Given the description of an element on the screen output the (x, y) to click on. 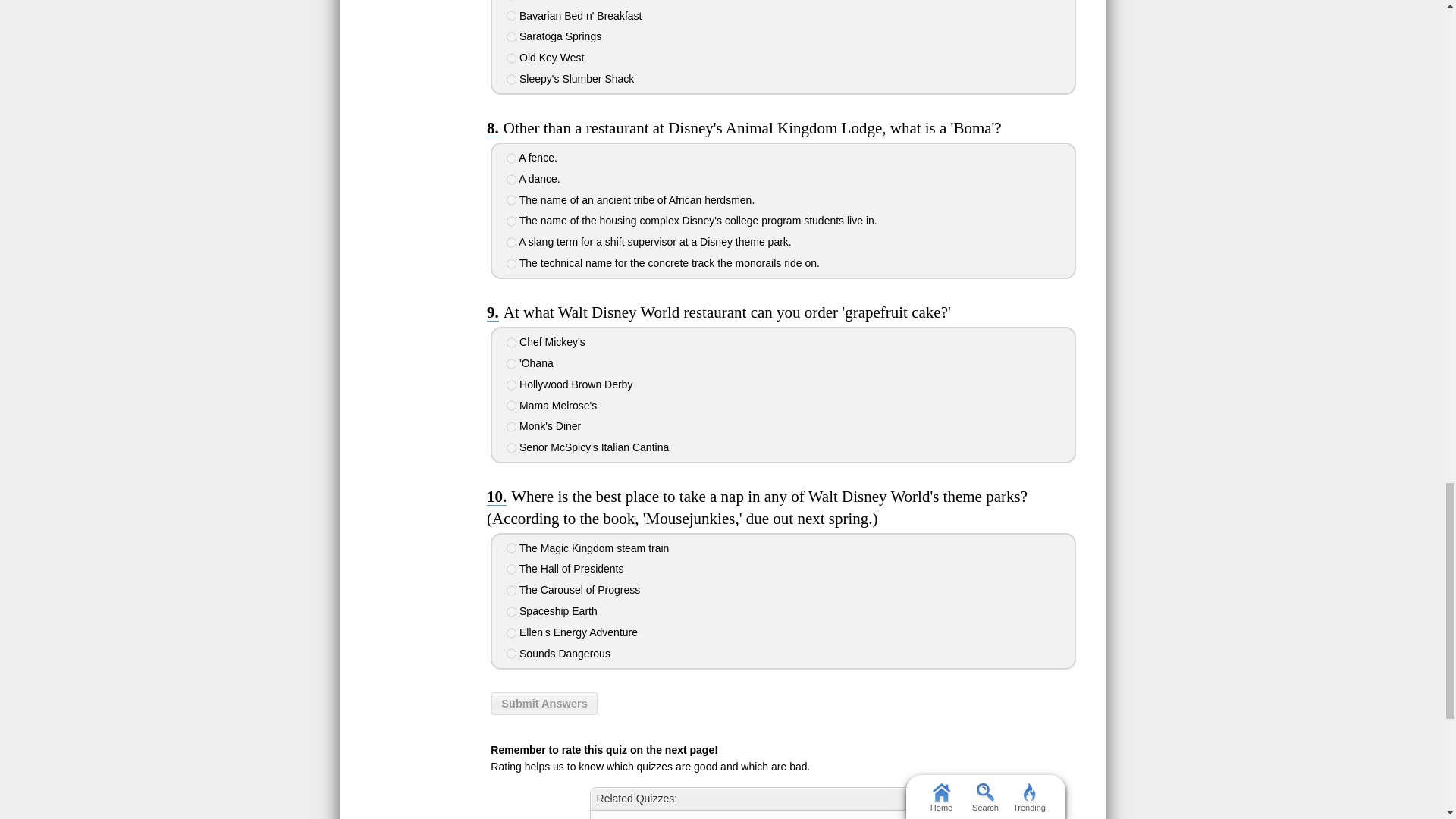
Submit Answers (544, 703)
